Given the description of an element on the screen output the (x, y) to click on. 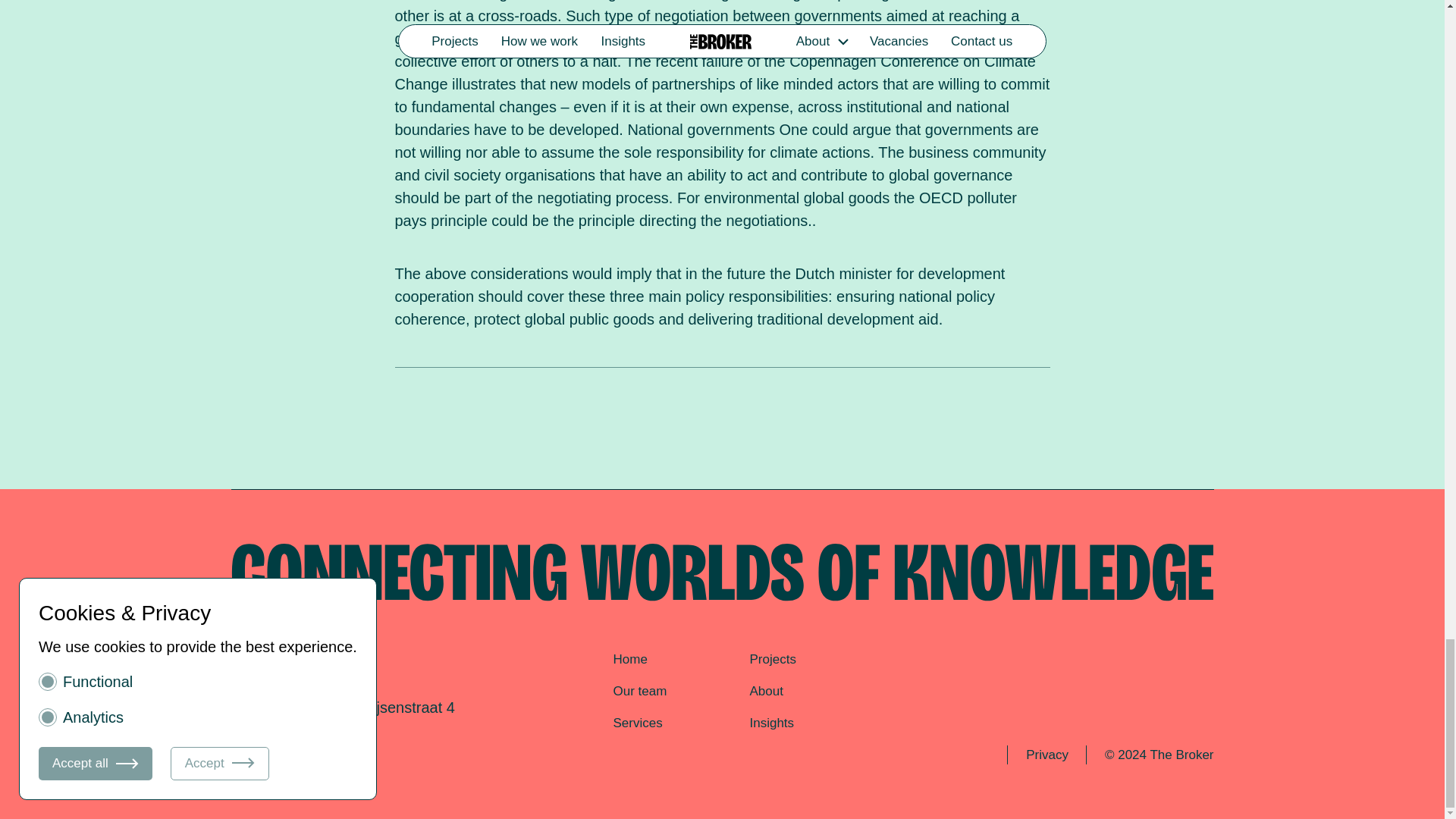
Services (637, 722)
Privacy (1046, 754)
Our team (639, 690)
Projects (771, 658)
Insights (771, 722)
About (766, 690)
Home (629, 658)
